Given the description of an element on the screen output the (x, y) to click on. 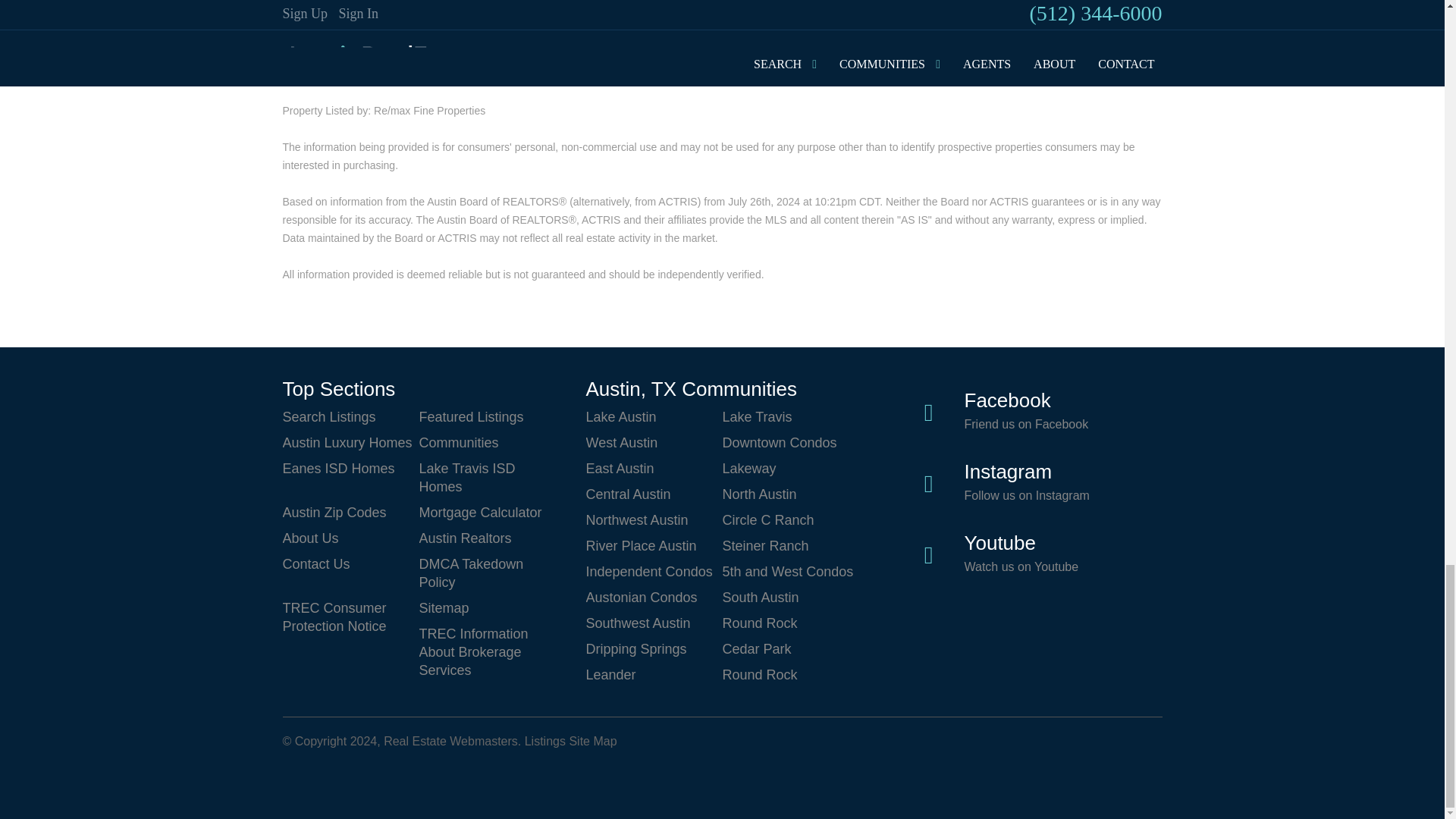
Real Estate Web Design By Real Estate Webmasters (317, 776)
